Given the description of an element on the screen output the (x, y) to click on. 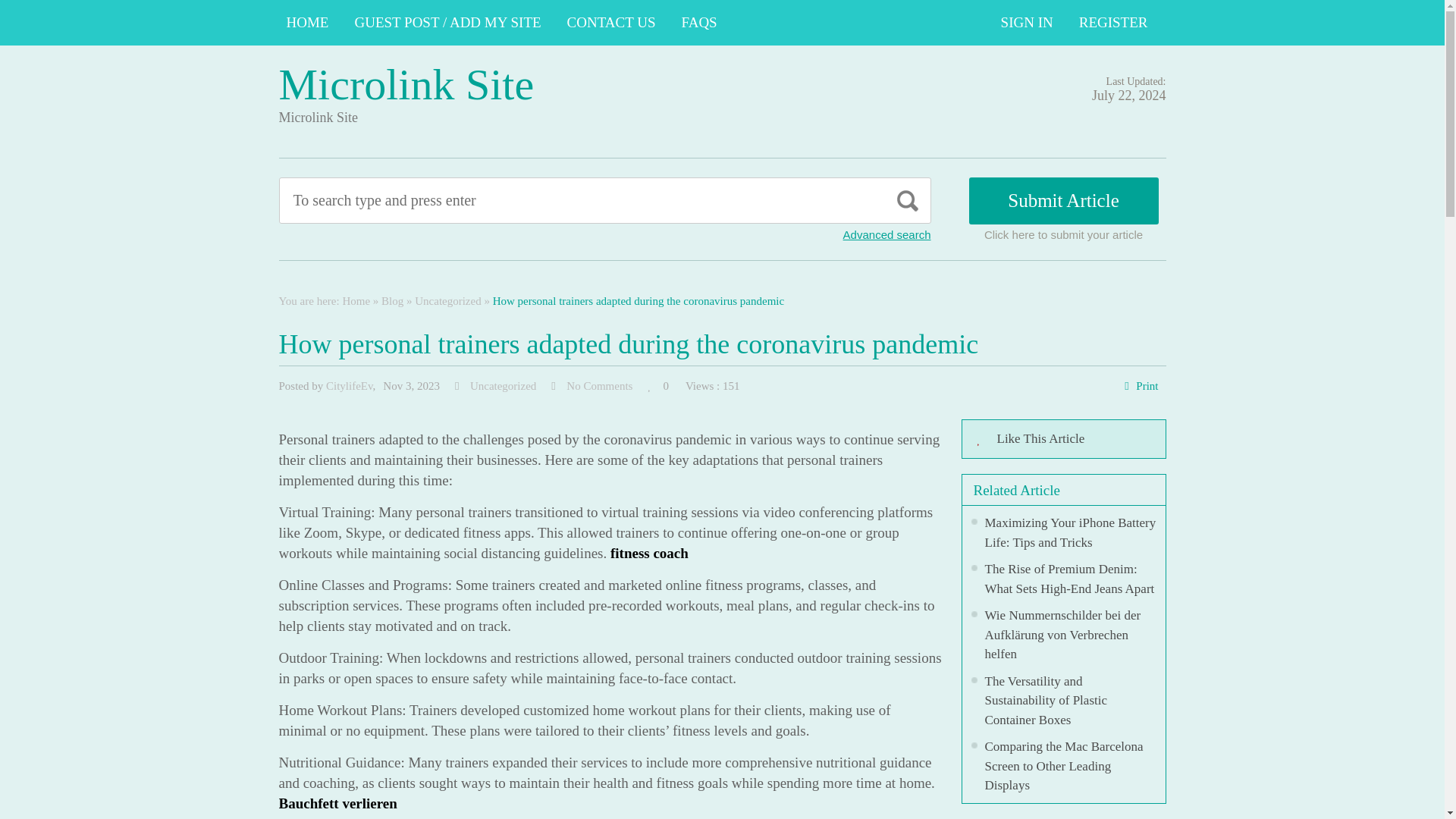
Advanced search (887, 234)
Blog (392, 300)
Like This Article (1063, 438)
To search type and press enter (535, 200)
Uncategorized (502, 386)
No Comments (598, 386)
Posts by CitylifeEv (349, 386)
Maximizing Your iPhone Battery Life: Tips and Tricks (1070, 532)
FAQS (699, 22)
CitylifeEv (349, 386)
CONTACT US (611, 22)
Uncategorized (447, 300)
Microlink Site (406, 83)
